Given the description of an element on the screen output the (x, y) to click on. 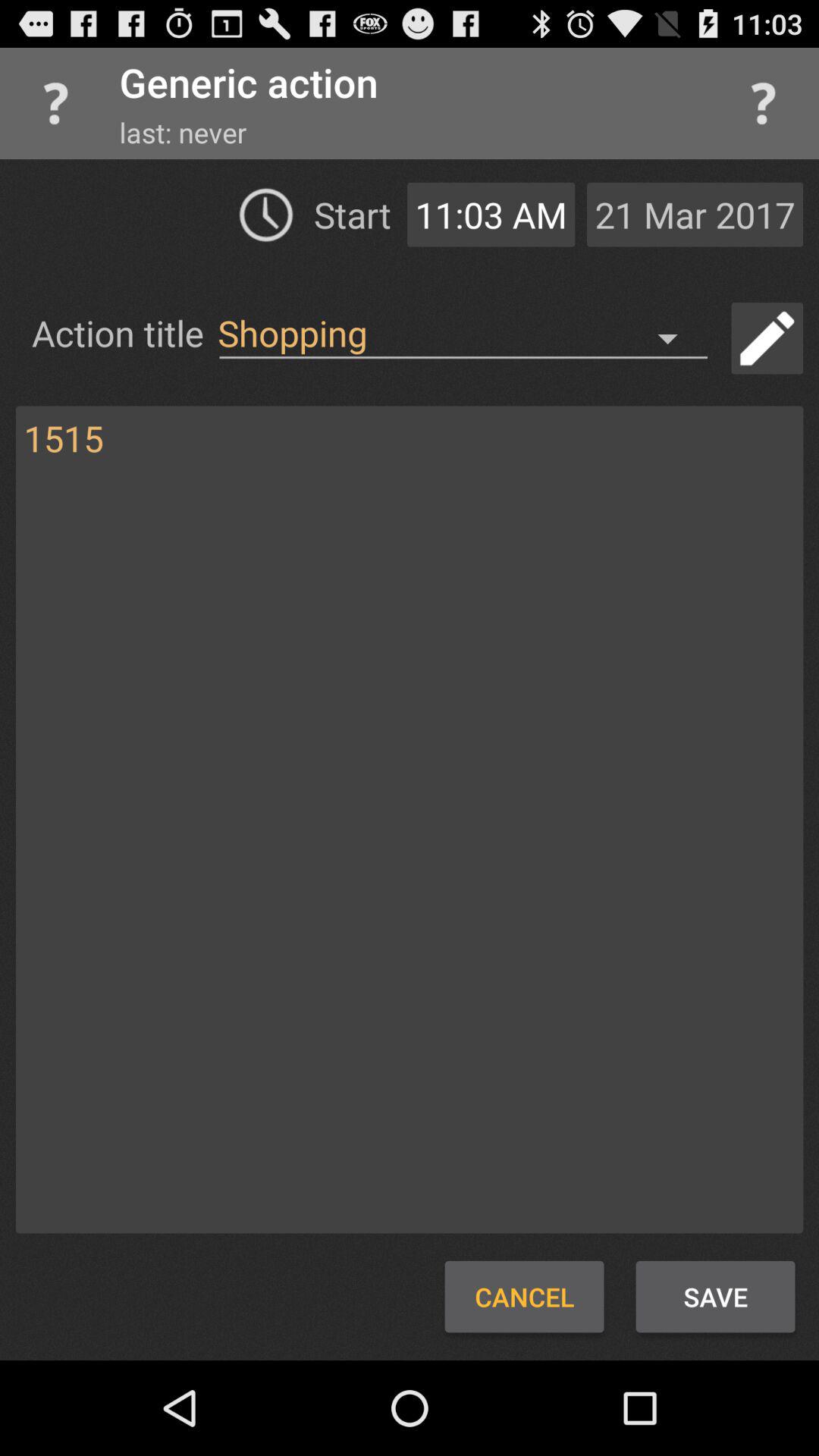
view help menu (763, 103)
